Given the description of an element on the screen output the (x, y) to click on. 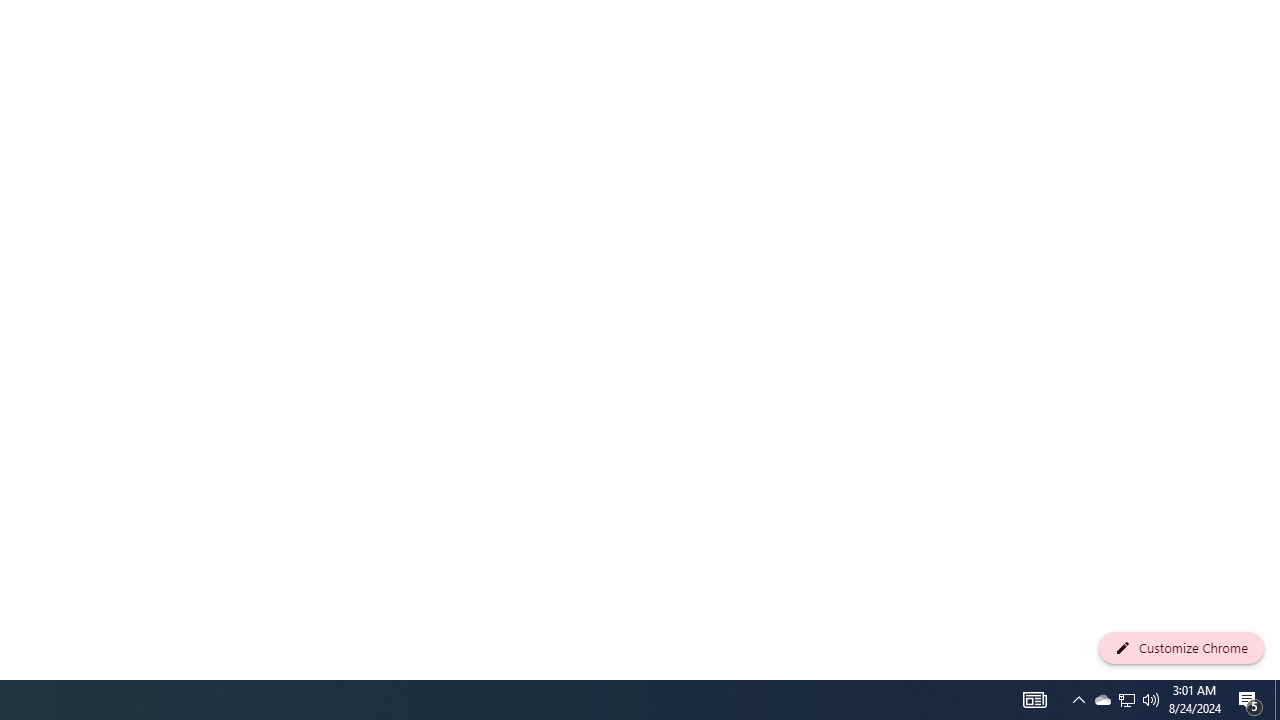
Customize Chrome (1181, 647)
